Given the description of an element on the screen output the (x, y) to click on. 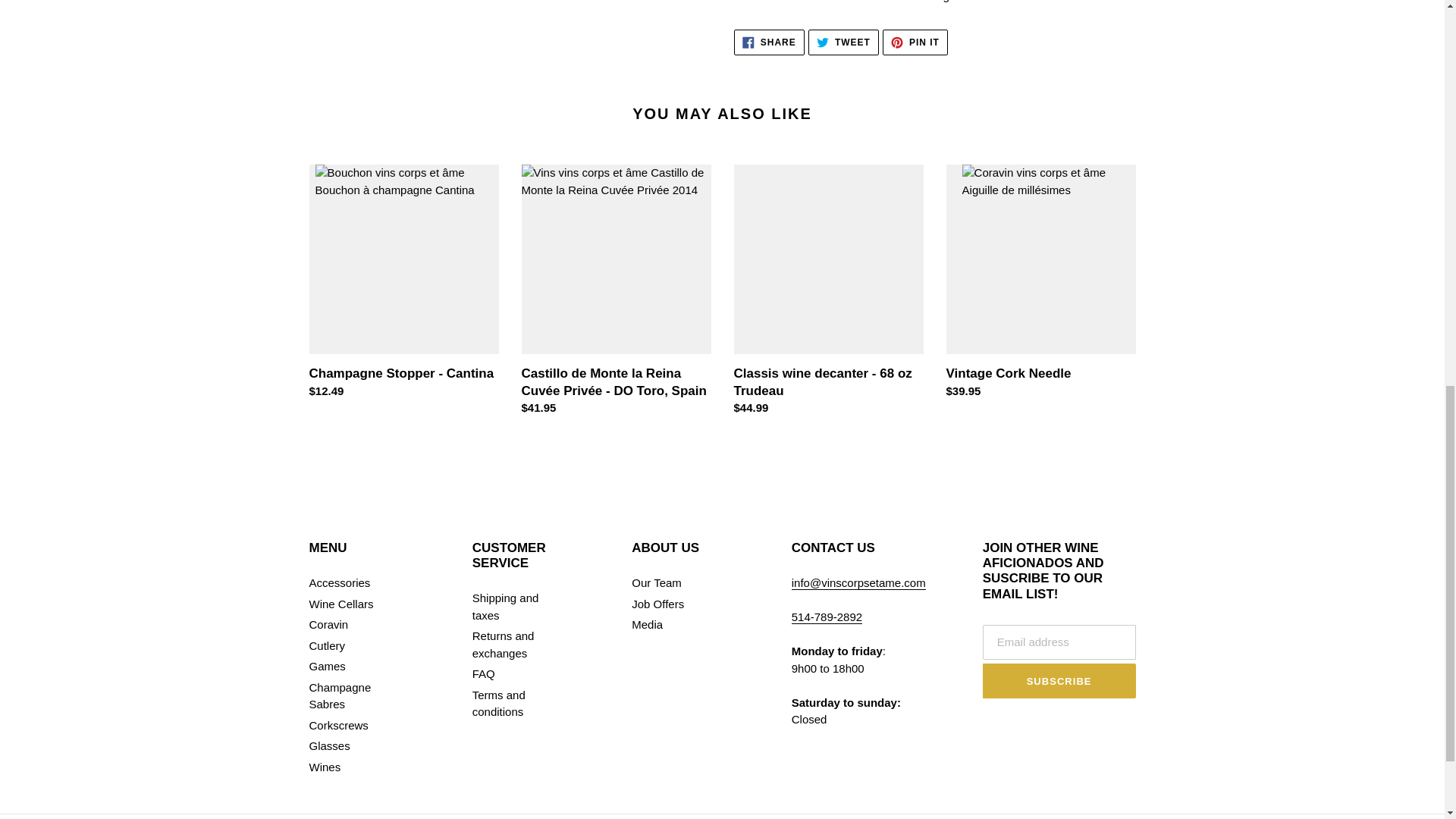
contact (859, 582)
Phone number (914, 42)
